Given the description of an element on the screen output the (x, y) to click on. 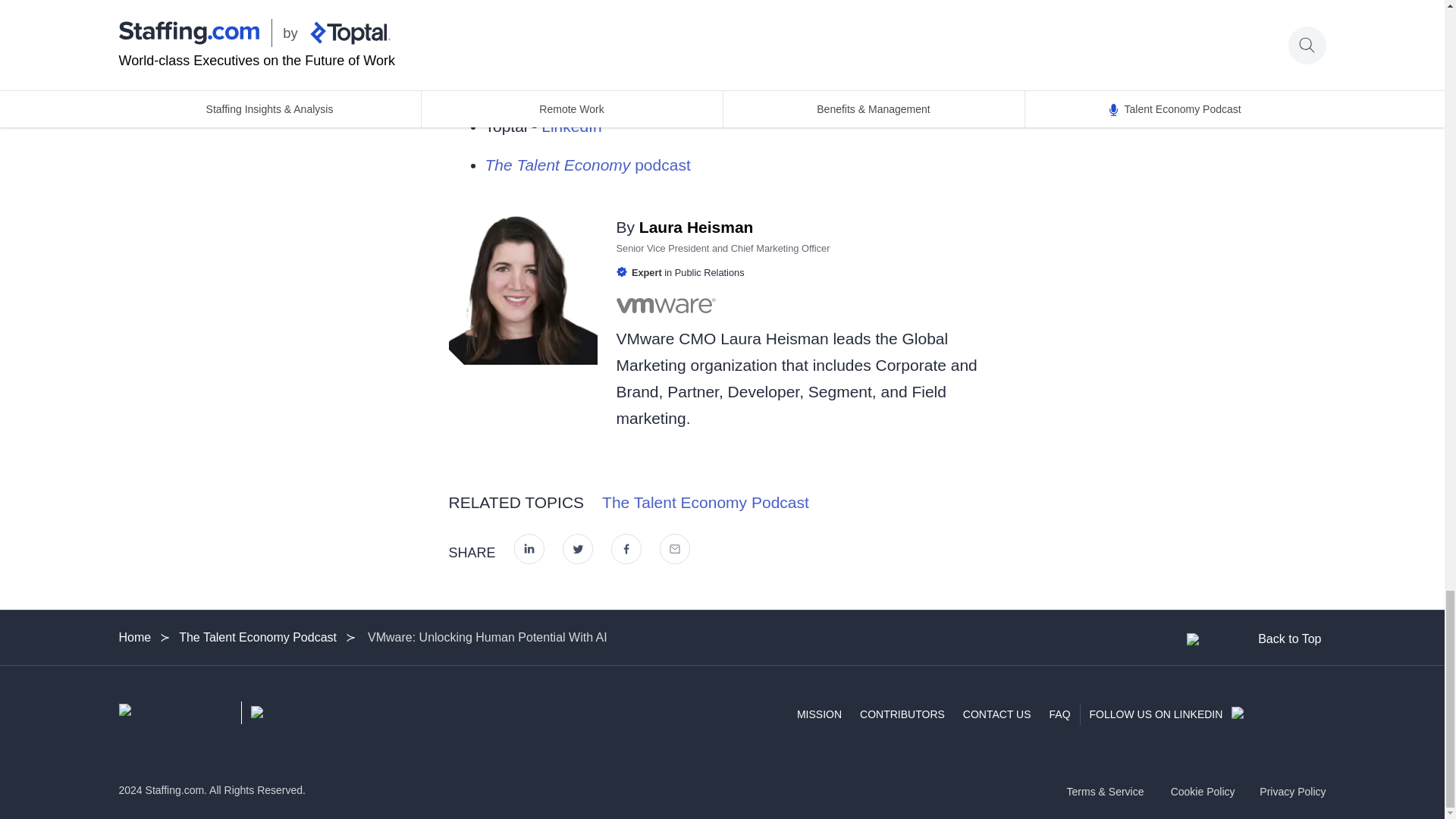
The Talent Economy podcast (587, 164)
The Talent Economy Podcast (705, 501)
FOLLOW US ON LINKEDIN (1207, 714)
LinkedIn (636, 48)
Laura Heisman (693, 226)
LinkedIn (571, 126)
Back to Top (1254, 639)
Cookie Policy (1202, 791)
Home (138, 637)
LinkedIn (635, 87)
